Given the description of an element on the screen output the (x, y) to click on. 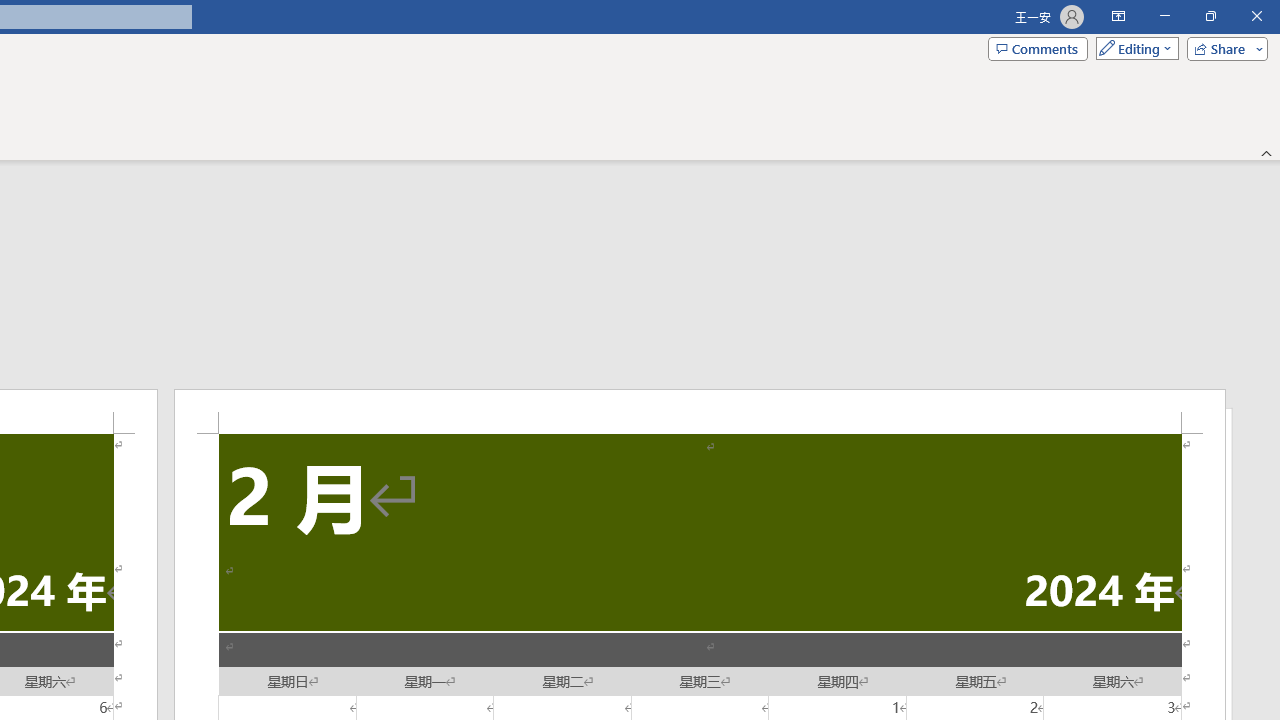
Header -Section 2- (700, 411)
